Given the description of an element on the screen output the (x, y) to click on. 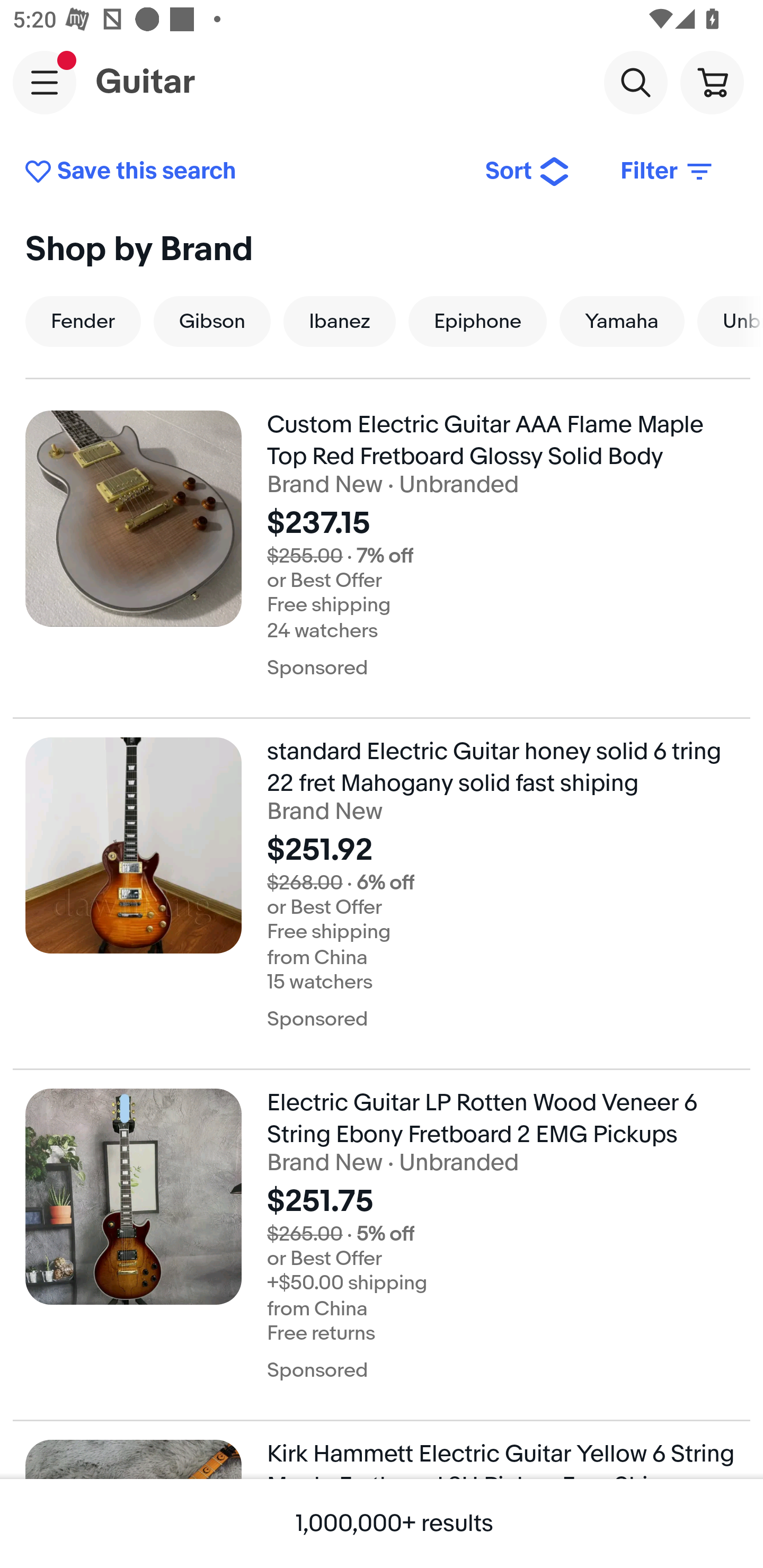
Main navigation, notification is pending, open (44, 82)
Search (635, 81)
Cart button shopping cart (711, 81)
Save this search (241, 171)
Sort (527, 171)
Filter (667, 171)
Fender Fender, Brand (83, 321)
Gibson Gibson, Brand (211, 321)
Ibanez Ibanez, Brand (339, 321)
Epiphone Epiphone, Brand (477, 321)
Yamaha Yamaha, Brand (621, 321)
Unbranded Unbranded, Brand (730, 321)
